Given the description of an element on the screen output the (x, y) to click on. 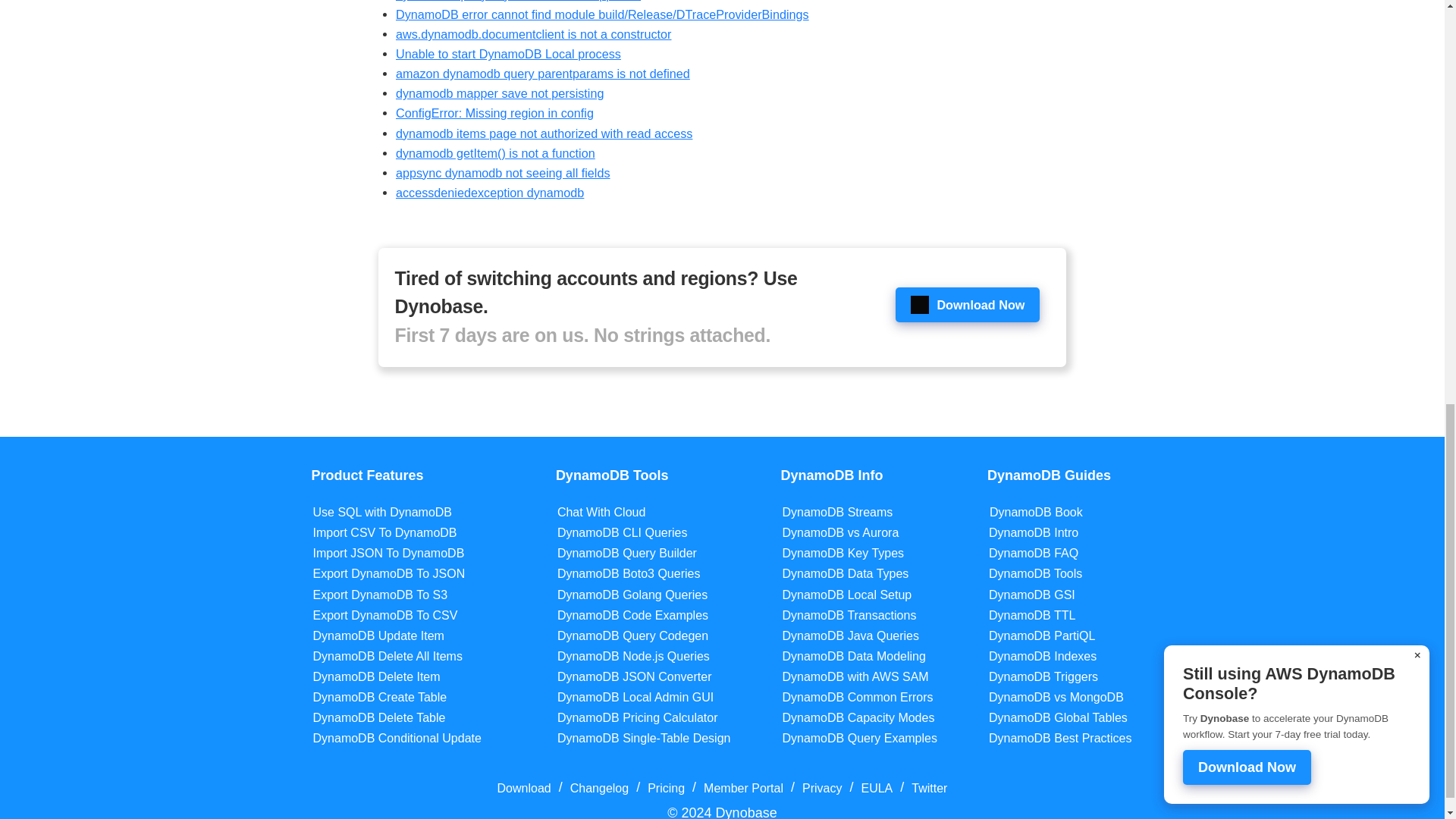
Export DynamoDB To CSV (385, 615)
Import CSV To DynamoDB (384, 532)
Chat With Cloud (601, 512)
DynamoDB Delete Item (376, 676)
appsync dynamodb not seeing all fields (503, 172)
DynamoDB Create Table (379, 697)
aws.dynamodb.documentclient is not a constructor (533, 33)
Import JSON To DynamoDB (388, 553)
Unable to start DynamoDB Local process (508, 53)
Export DynamoDB To S3 (380, 594)
